Given the description of an element on the screen output the (x, y) to click on. 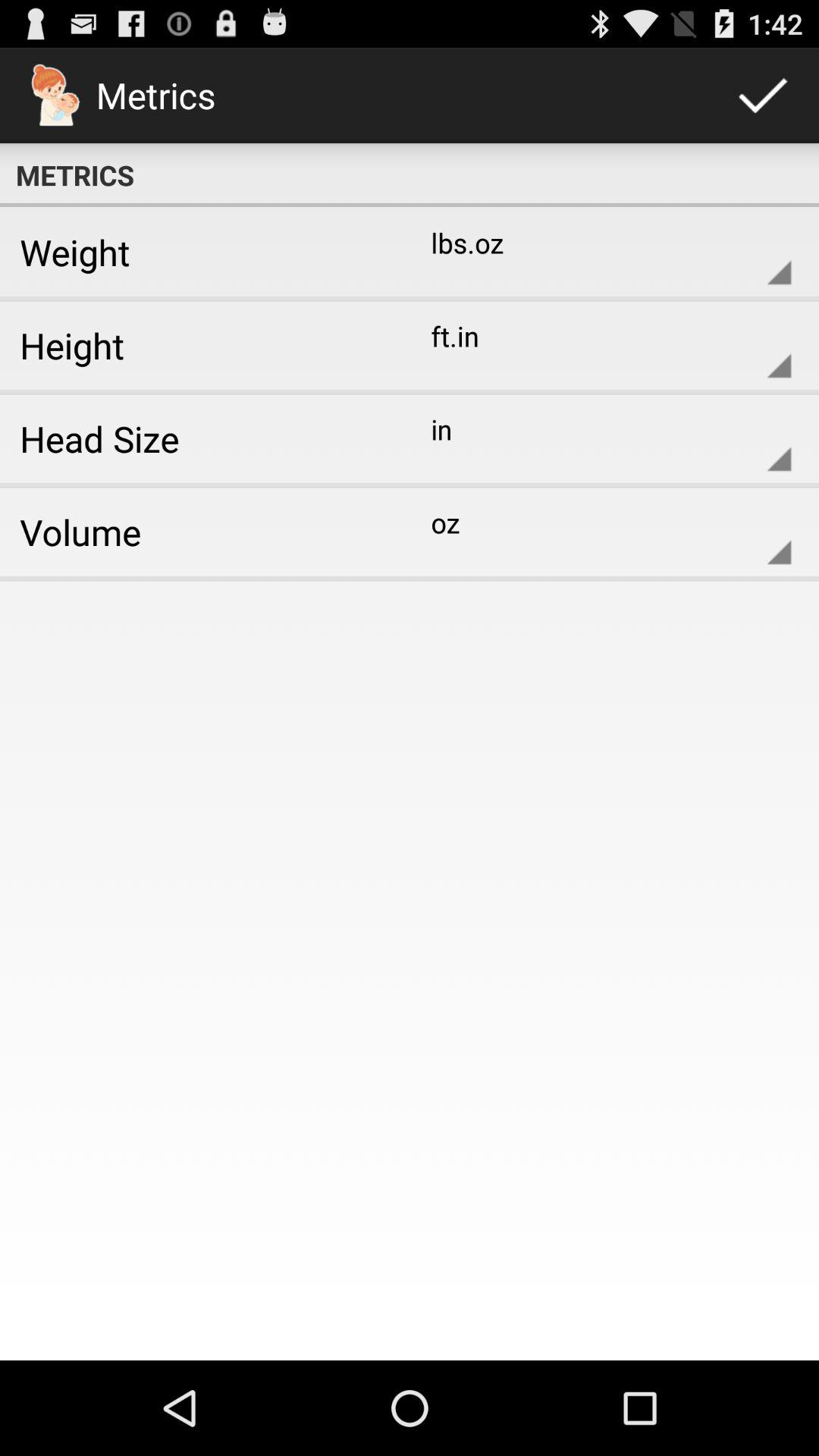
tap the head size app (199, 438)
